Given the description of an element on the screen output the (x, y) to click on. 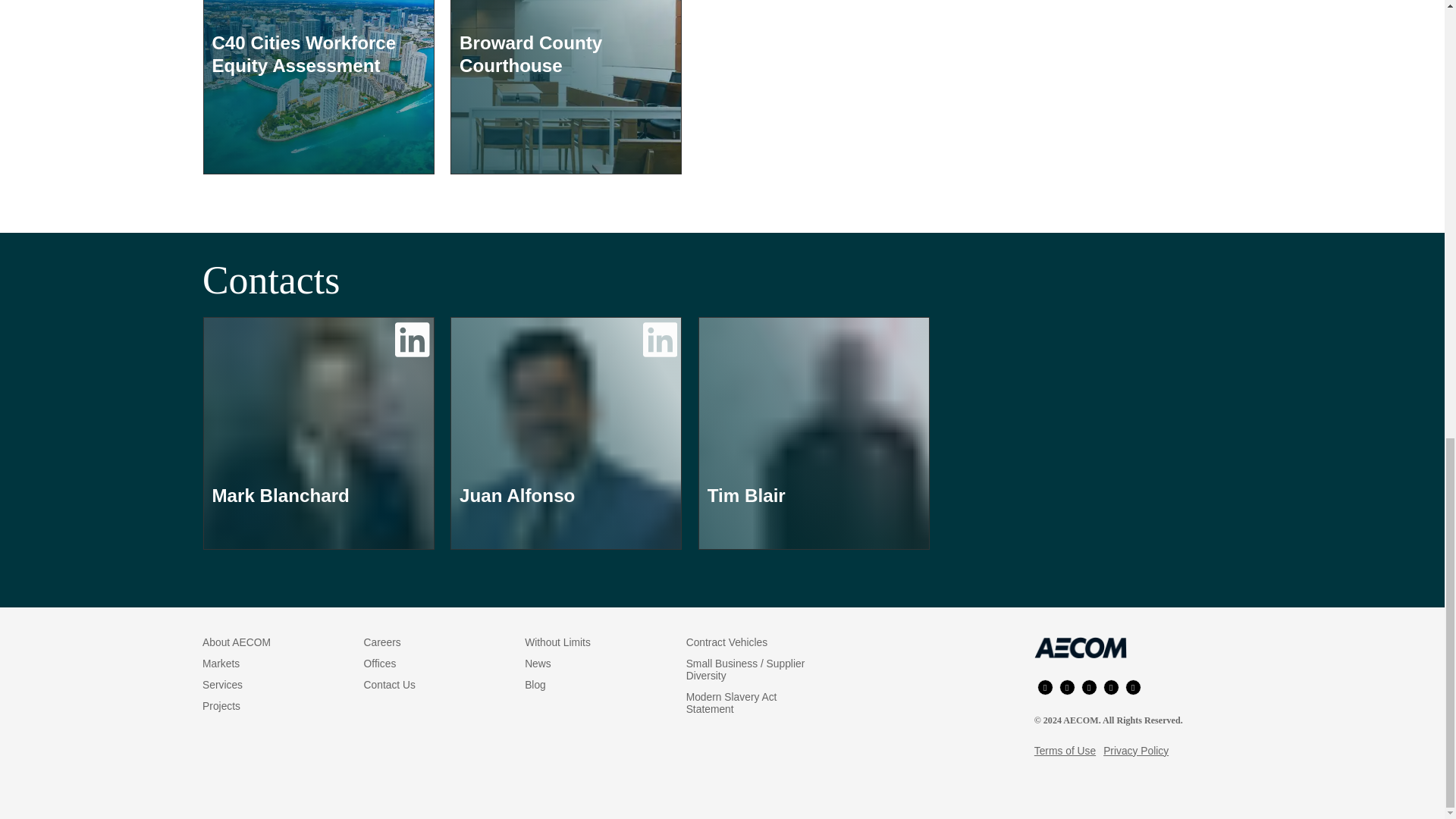
Without Limits (557, 642)
Twitter (1111, 687)
Linkedin (1089, 687)
Markets (221, 663)
Contact Us (389, 684)
News (537, 663)
Offices (380, 663)
Projects (221, 705)
Careers (382, 642)
About AECOM (236, 642)
Privacy Policy (1136, 750)
Contract Vehicles (726, 642)
Modern Slavery Act Statement (731, 702)
Terms of Use (1064, 750)
Blog (535, 684)
